Given the description of an element on the screen output the (x, y) to click on. 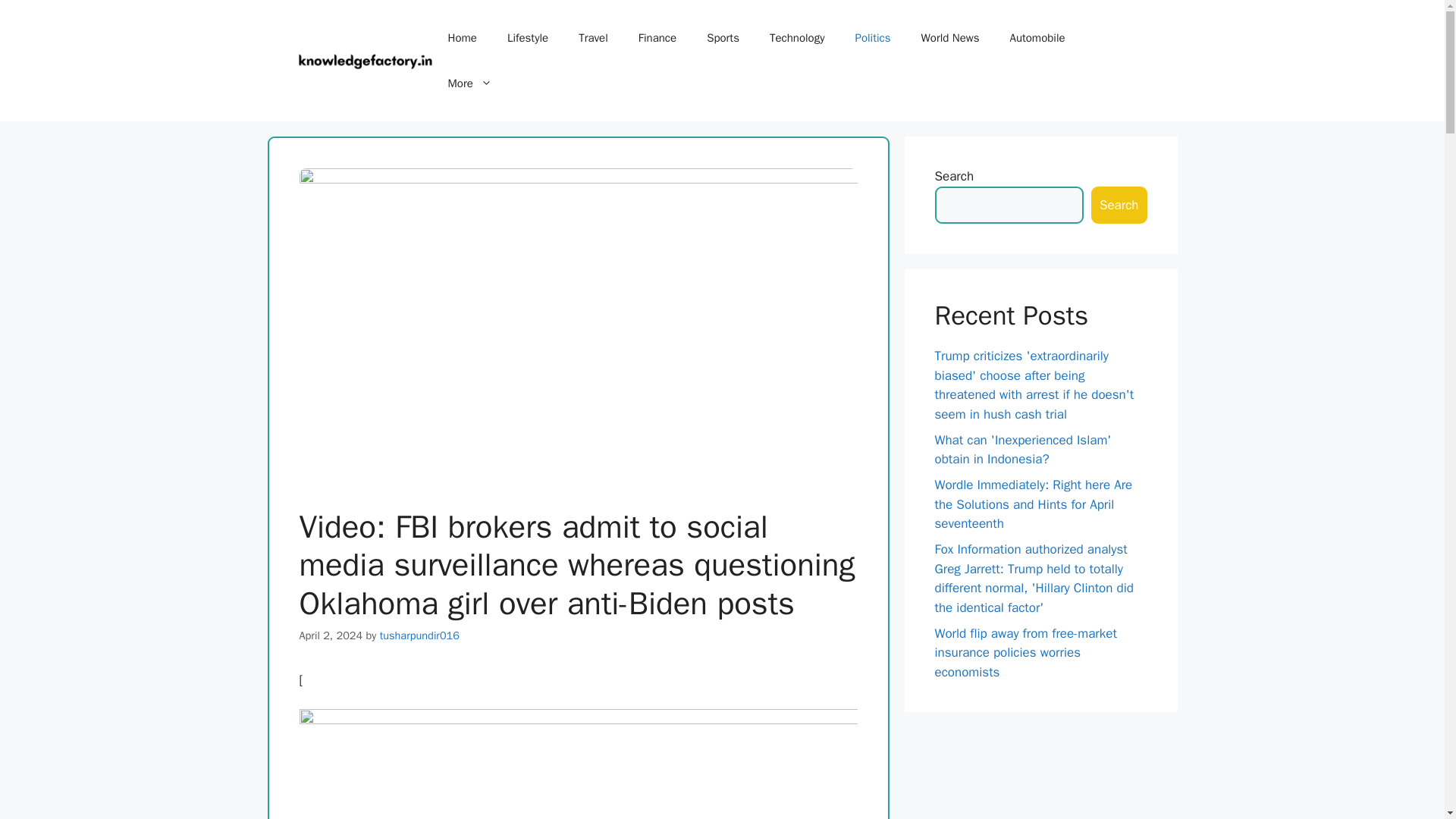
Search (1118, 205)
Finance (657, 37)
Technology (797, 37)
World News (949, 37)
Travel (593, 37)
Home (462, 37)
More (469, 83)
Automobile (1037, 37)
What can 'Inexperienced Islam' obtain in Indonesia? (1022, 449)
View all posts by tusharpundir016 (420, 635)
Lifestyle (527, 37)
